Given the description of an element on the screen output the (x, y) to click on. 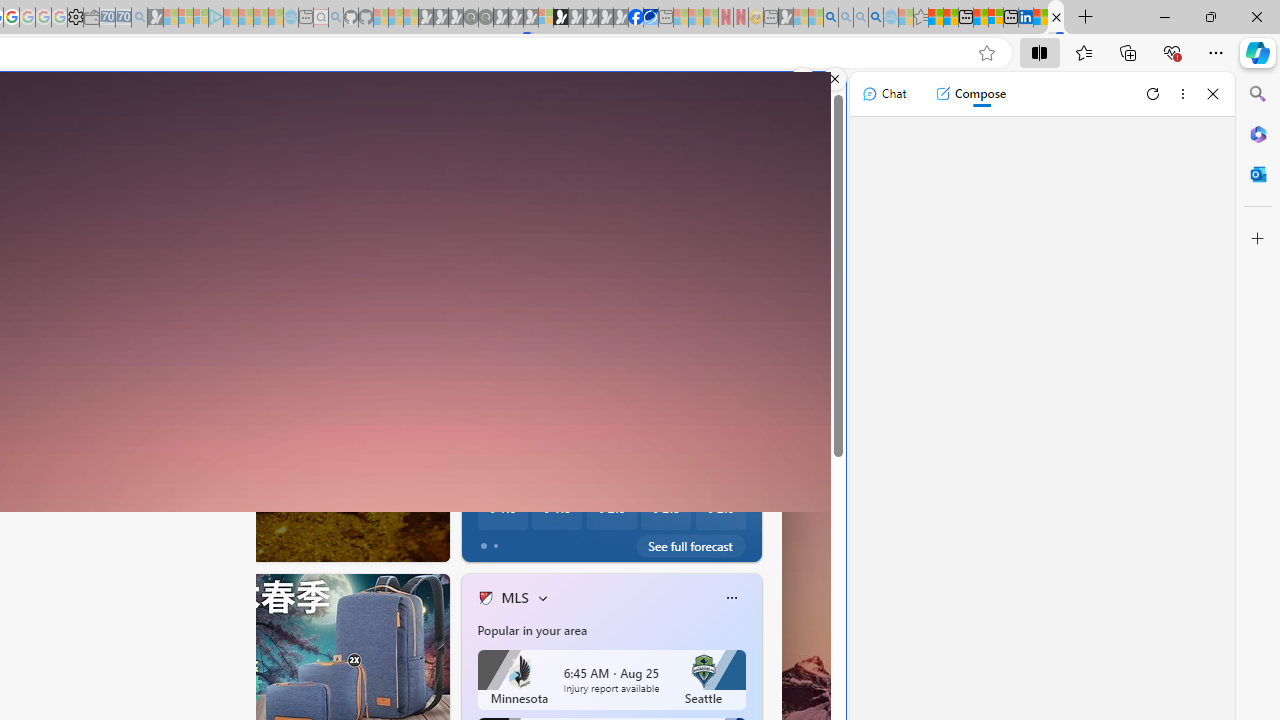
23 Like (487, 541)
Page settings (786, 104)
EatingWell (477, 442)
View comments 14 Comment (568, 541)
Add a site (511, 188)
AutomationID: tab-28 (204, 542)
Aberdeen (508, 281)
More options. (803, 79)
76 Like (487, 541)
